Given the description of an element on the screen output the (x, y) to click on. 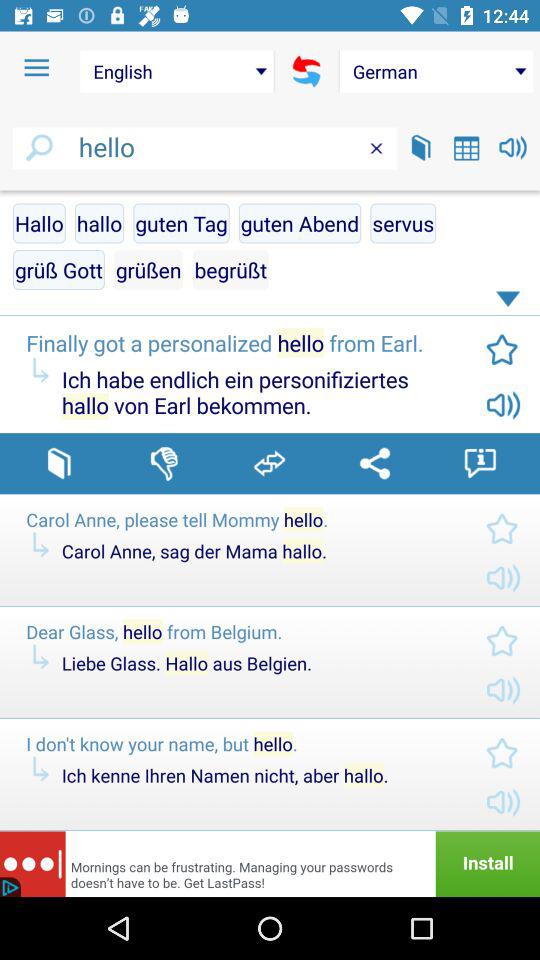
jump until the guten tag (181, 223)
